Given the description of an element on the screen output the (x, y) to click on. 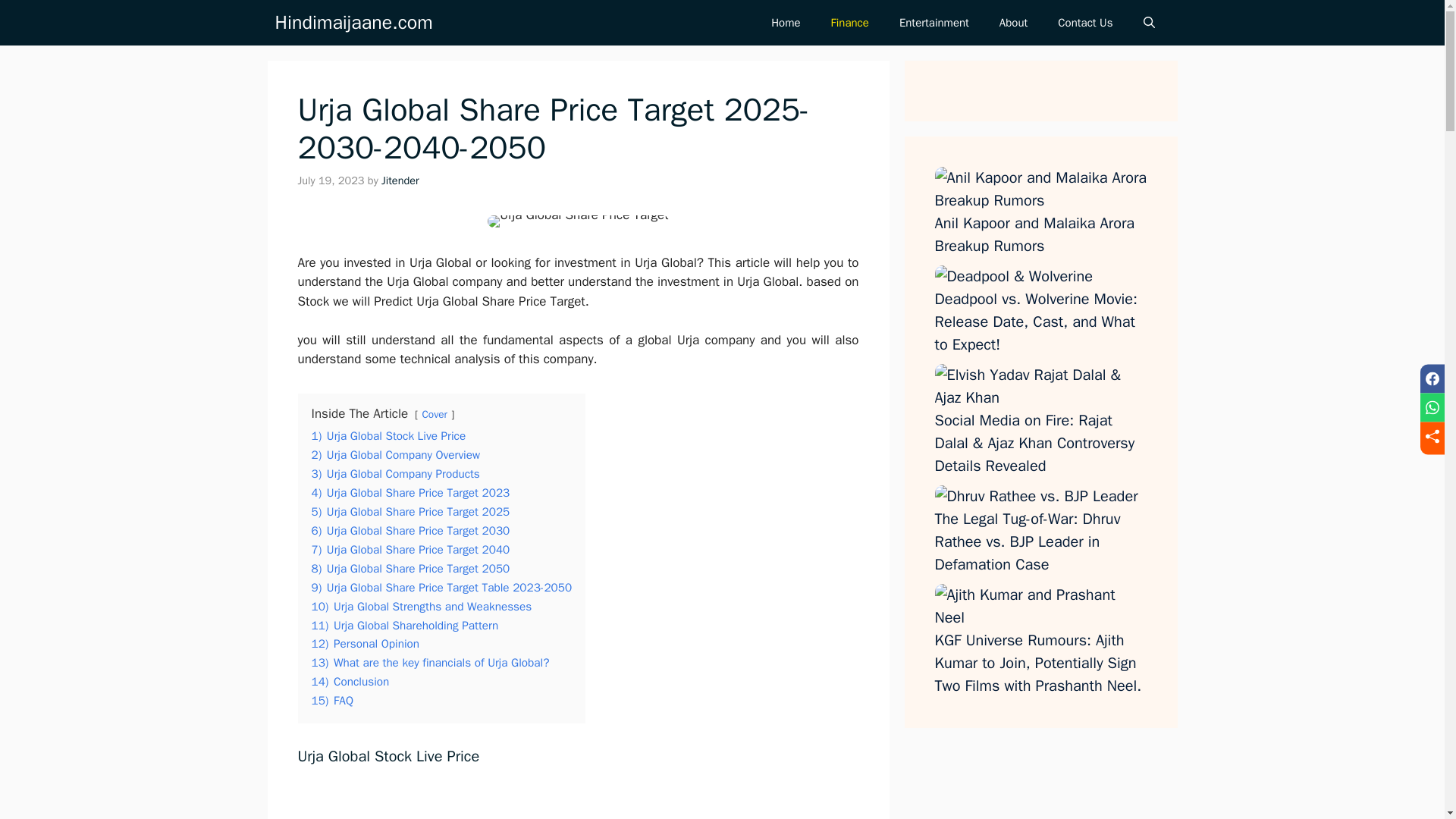
Jitender (400, 180)
View all posts by Jitender (400, 180)
Urja Global Share Price Target 2025-2030-2040-2050 1 (577, 221)
Entertainment (933, 22)
Anil Kapoor and Malaika Arora Breakup Rumors 2 (1040, 189)
Hindimaijaane.com (353, 22)
Contact Us (1084, 22)
Finance (849, 22)
Cover (434, 413)
Home (785, 22)
About (1013, 22)
